Given the description of an element on the screen output the (x, y) to click on. 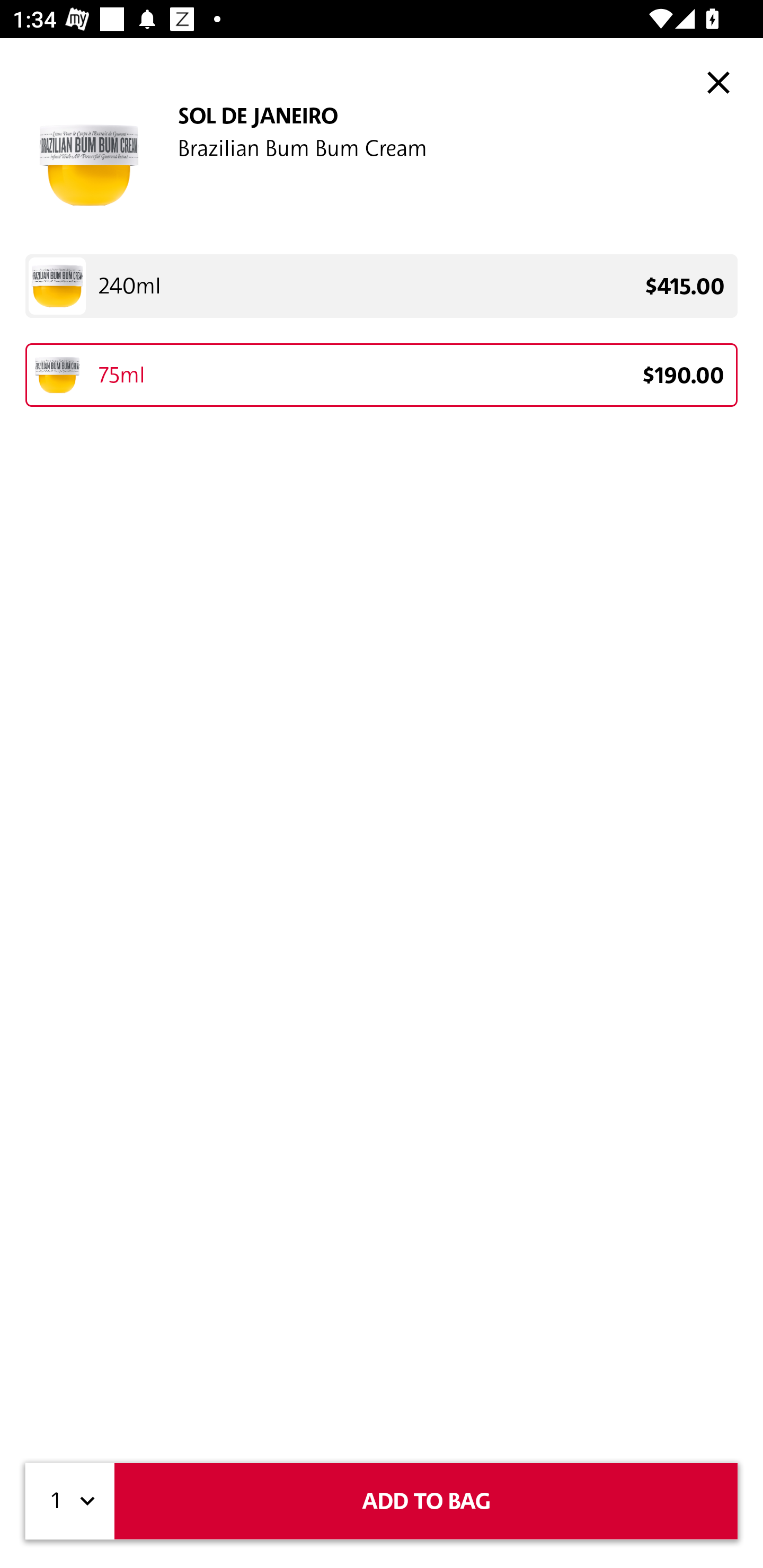
image description (718, 81)
SOL DE JANEIRO Brazilian Bum Bum Cream (381, 164)
240ml $415.00 (381, 285)
75ml $190.00 (381, 375)
1 (69, 1500)
ADD TO BAG (425, 1500)
